Given the description of an element on the screen output the (x, y) to click on. 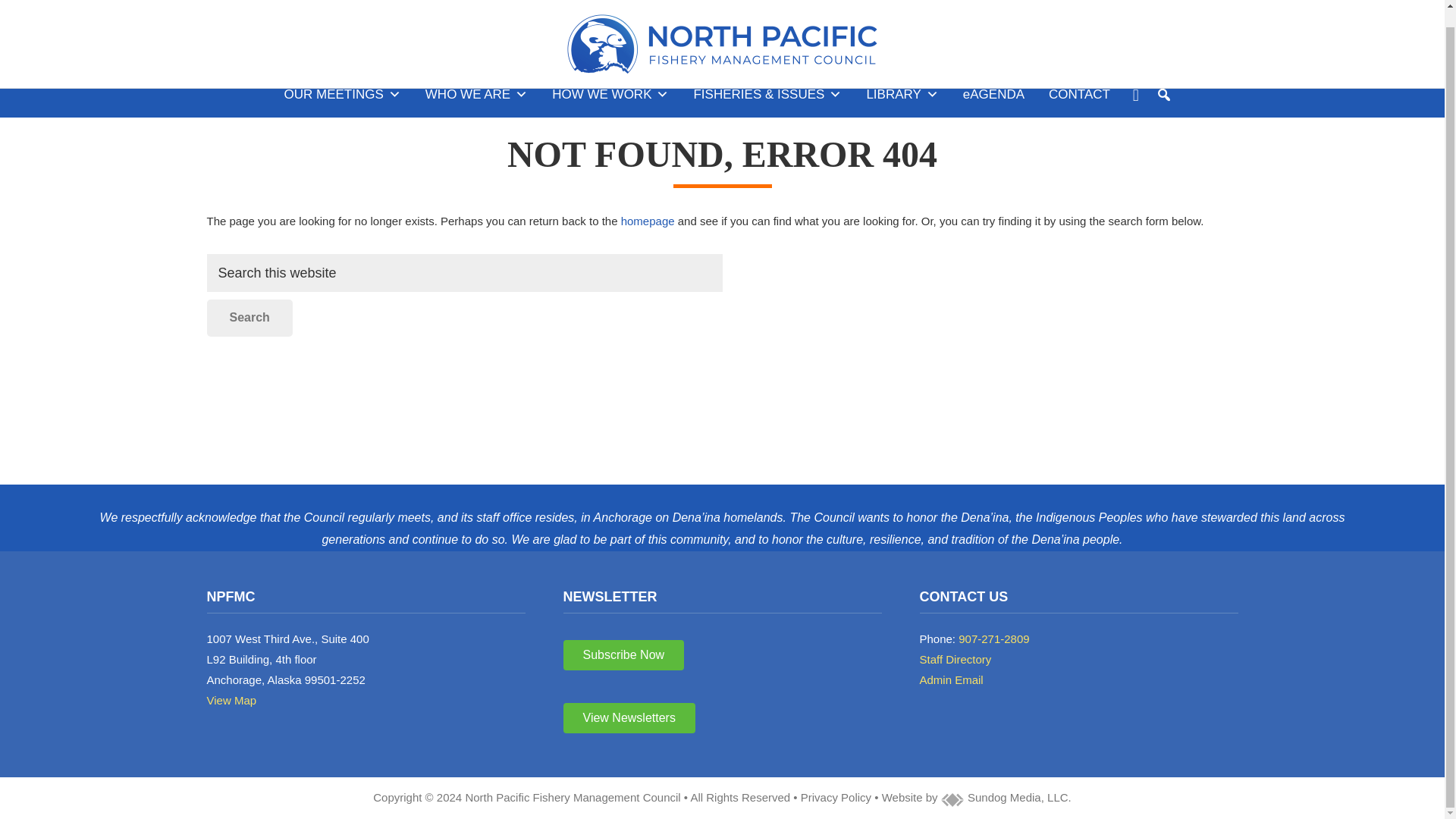
Search (249, 317)
Search (249, 317)
WHO WE ARE (476, 94)
HOW WE WORK (610, 94)
OUR MEETINGS (342, 94)
